Given the description of an element on the screen output the (x, y) to click on. 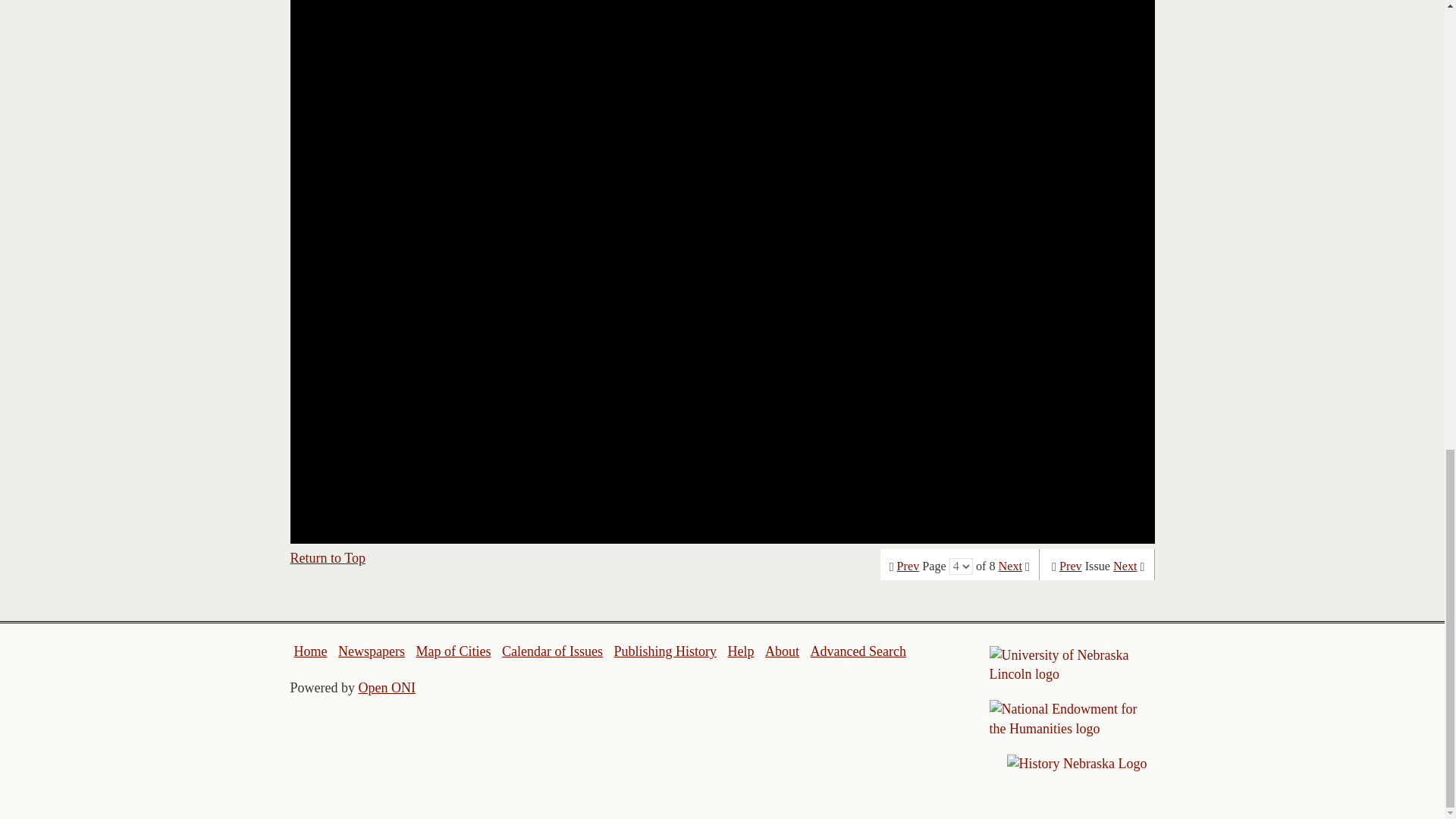
Prev (1070, 566)
Next (1010, 566)
Help (740, 651)
Advanced Search (857, 651)
Return to Top (327, 557)
About (782, 651)
Newspapers (370, 651)
Home (310, 651)
Publishing History (664, 651)
Map of Cities (452, 651)
